Given the description of an element on the screen output the (x, y) to click on. 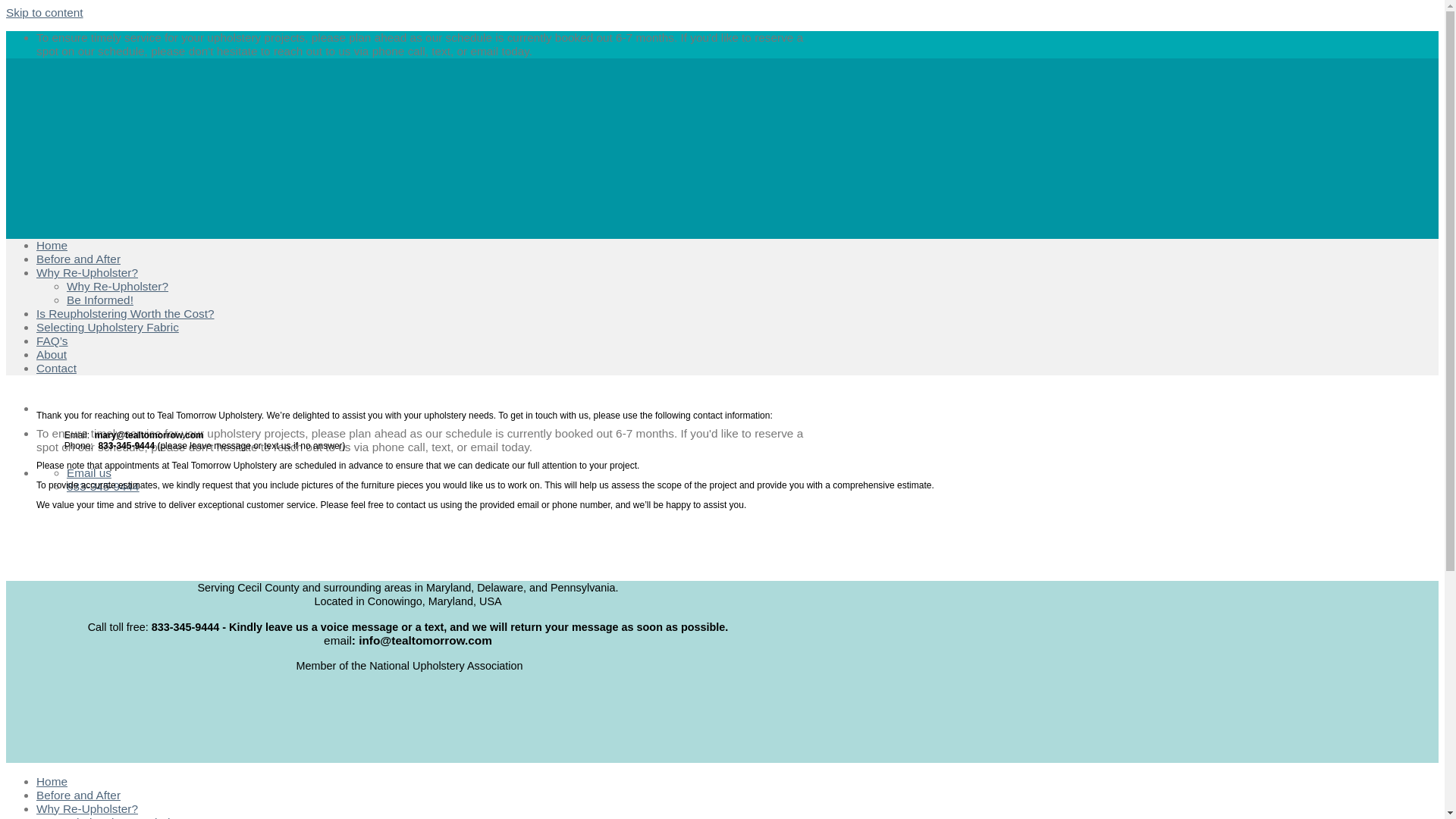
833-345-9444 (102, 486)
Is Reupholstering Worth the Cost? (125, 313)
Be Informed! (99, 299)
Teal Tomorrow Upholstery, Inc. (185, 303)
Why Re-Upholster? (117, 286)
Is Reupholstering Worth the Cost? (125, 817)
Before and After (78, 258)
Before and After (78, 794)
Why Re-Upholster? (87, 272)
Home (51, 780)
